Given the description of an element on the screen output the (x, y) to click on. 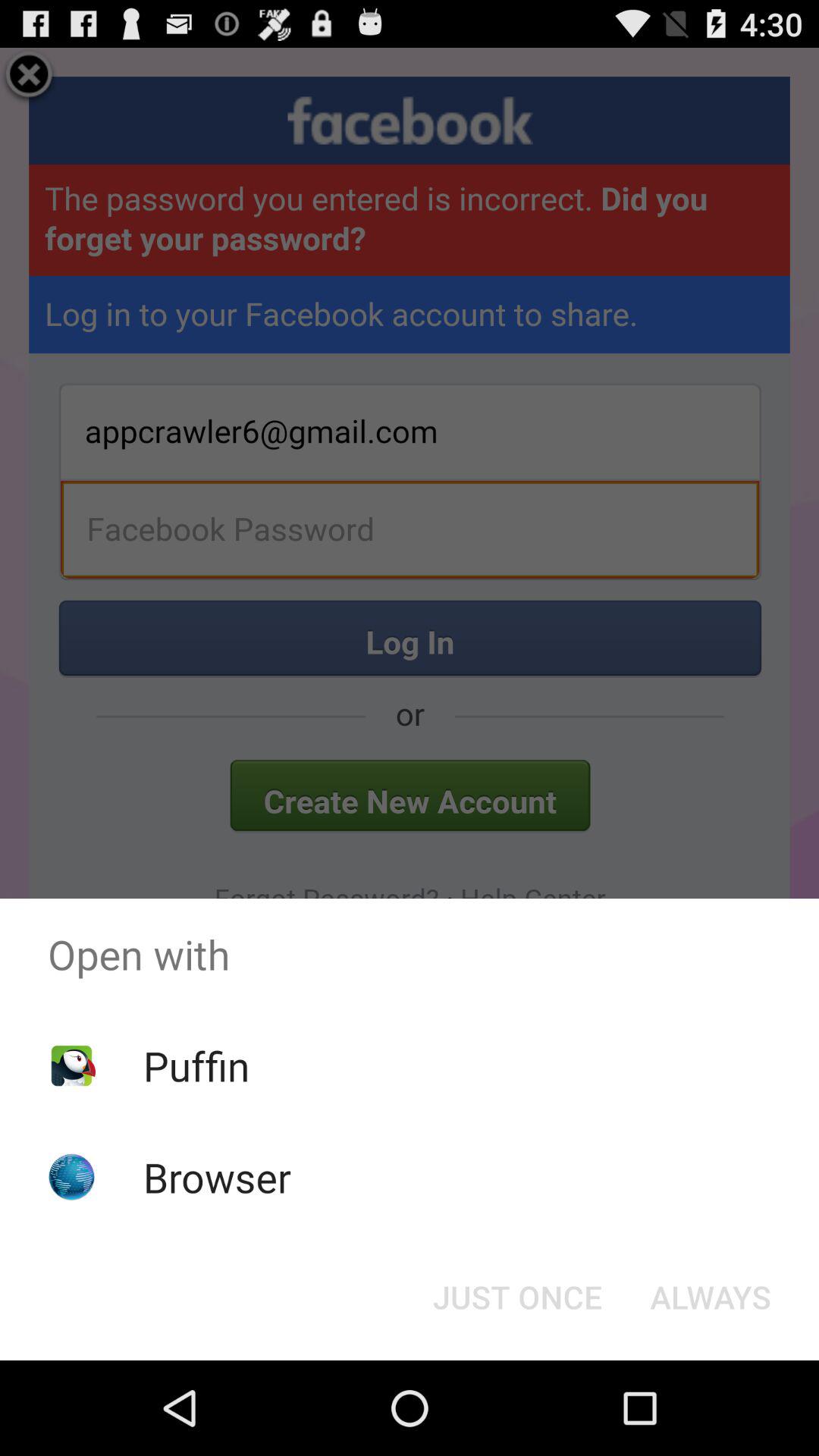
click icon below puffin (217, 1176)
